Given the description of an element on the screen output the (x, y) to click on. 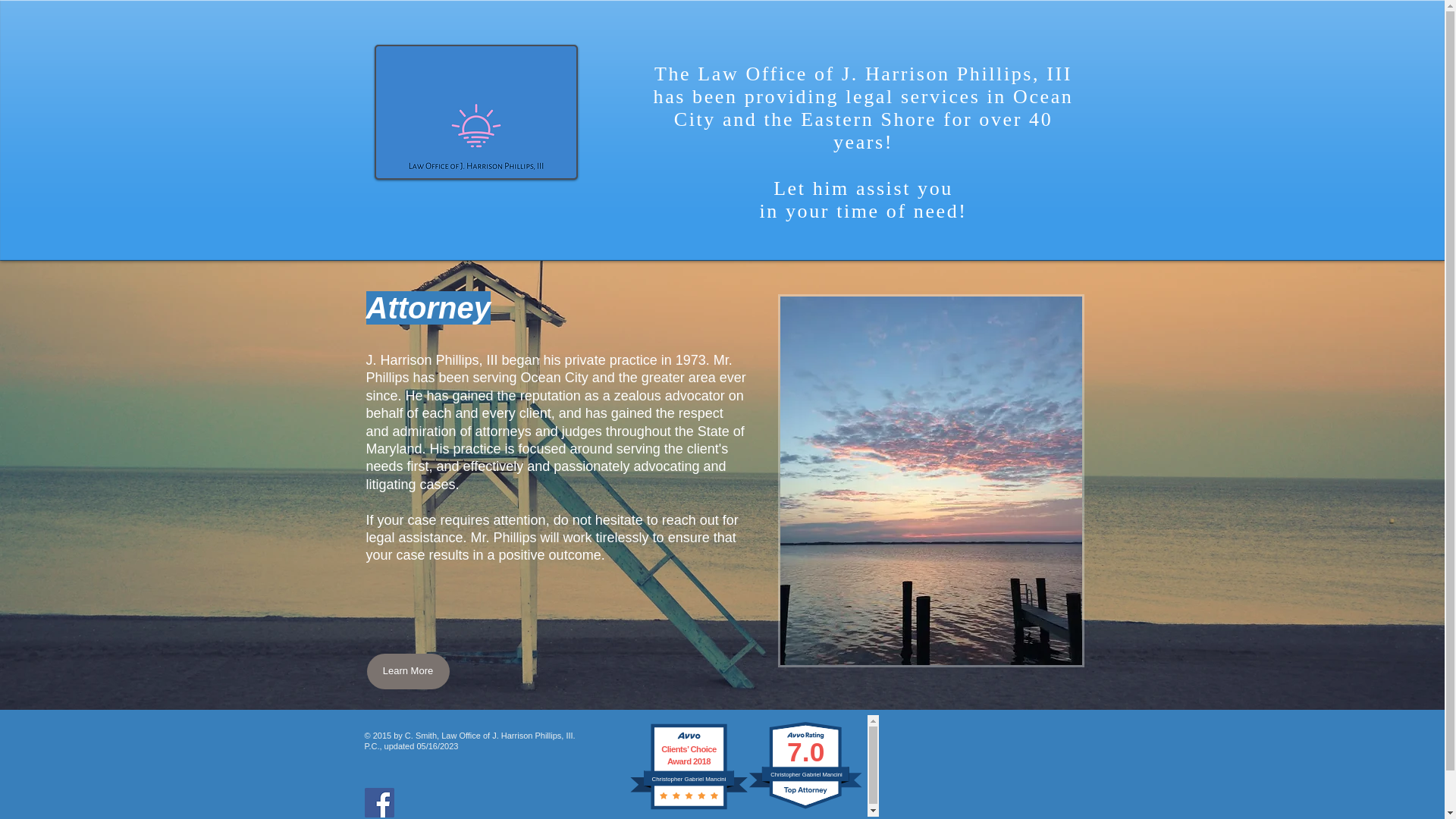
Facebook Like (507, 805)
WEB-STAT (1011, 772)
Learn More (407, 671)
Embedded Content (692, 766)
Embedded Content (810, 765)
